Given the description of an element on the screen output the (x, y) to click on. 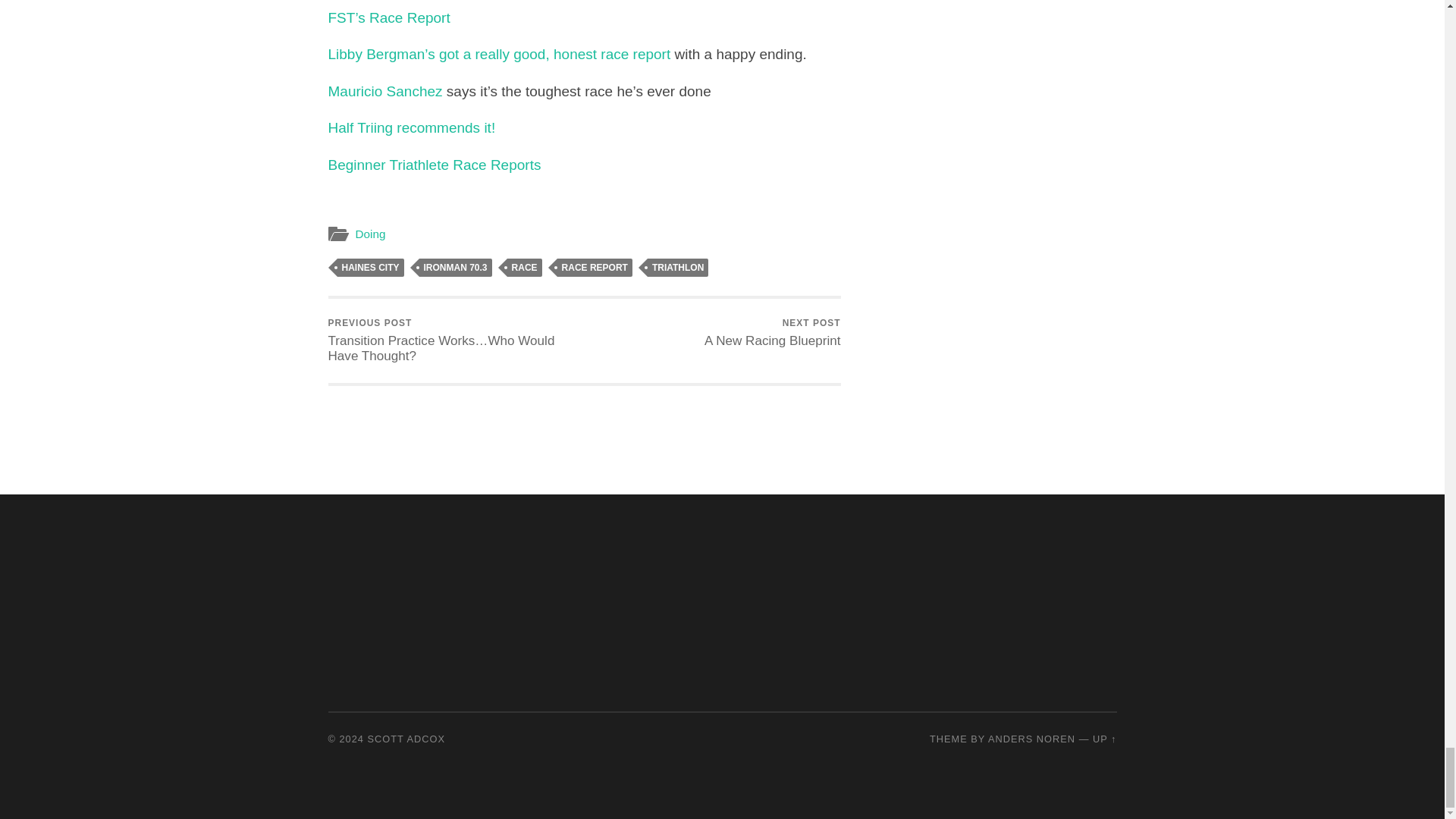
To the top (1104, 738)
